Given the description of an element on the screen output the (x, y) to click on. 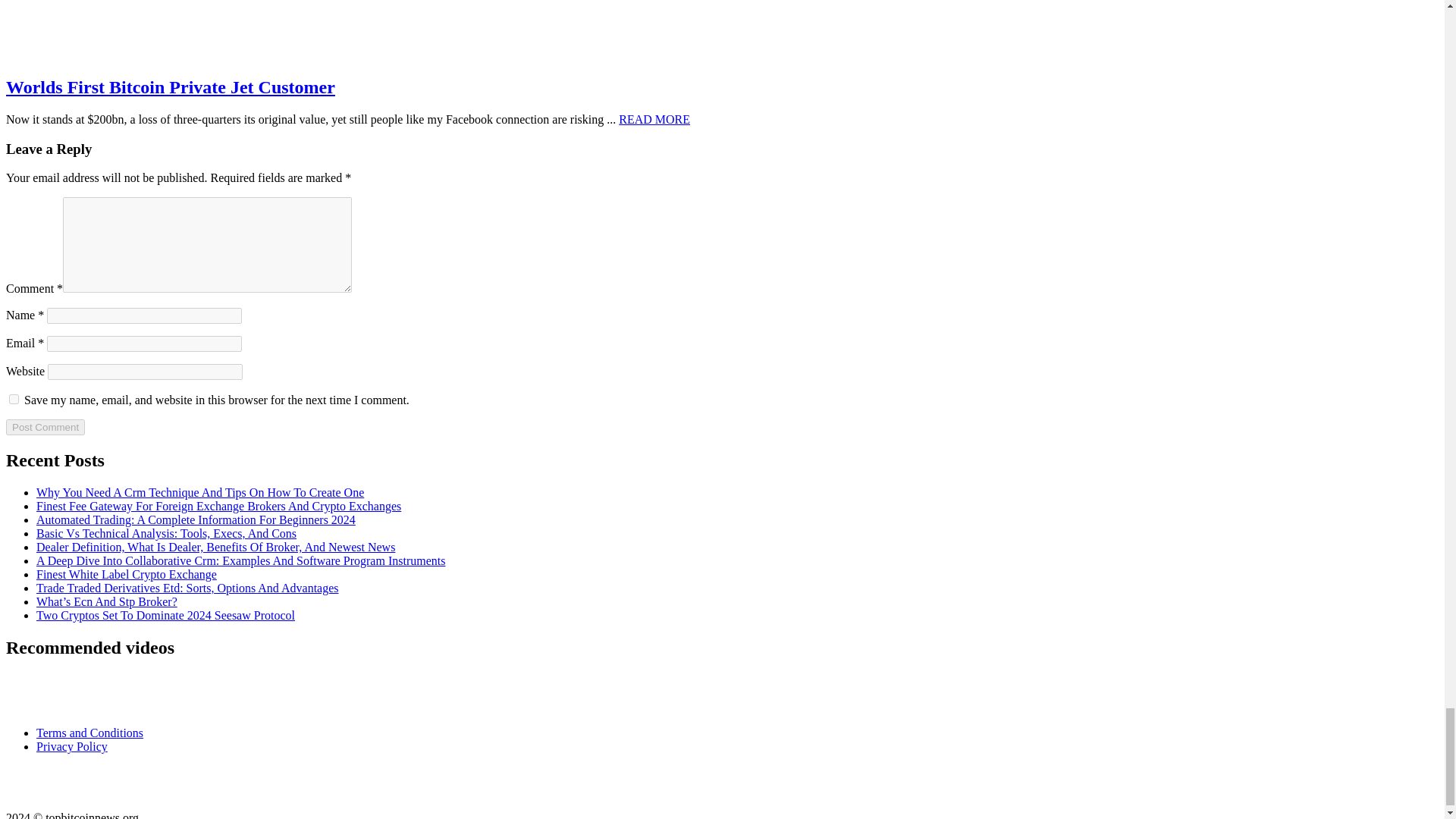
yes (13, 398)
Worlds First Bitcoin Private Jet Customer (152, 29)
DMCA.com Protection Status (81, 791)
Post Comment (44, 426)
